Given the description of an element on the screen output the (x, y) to click on. 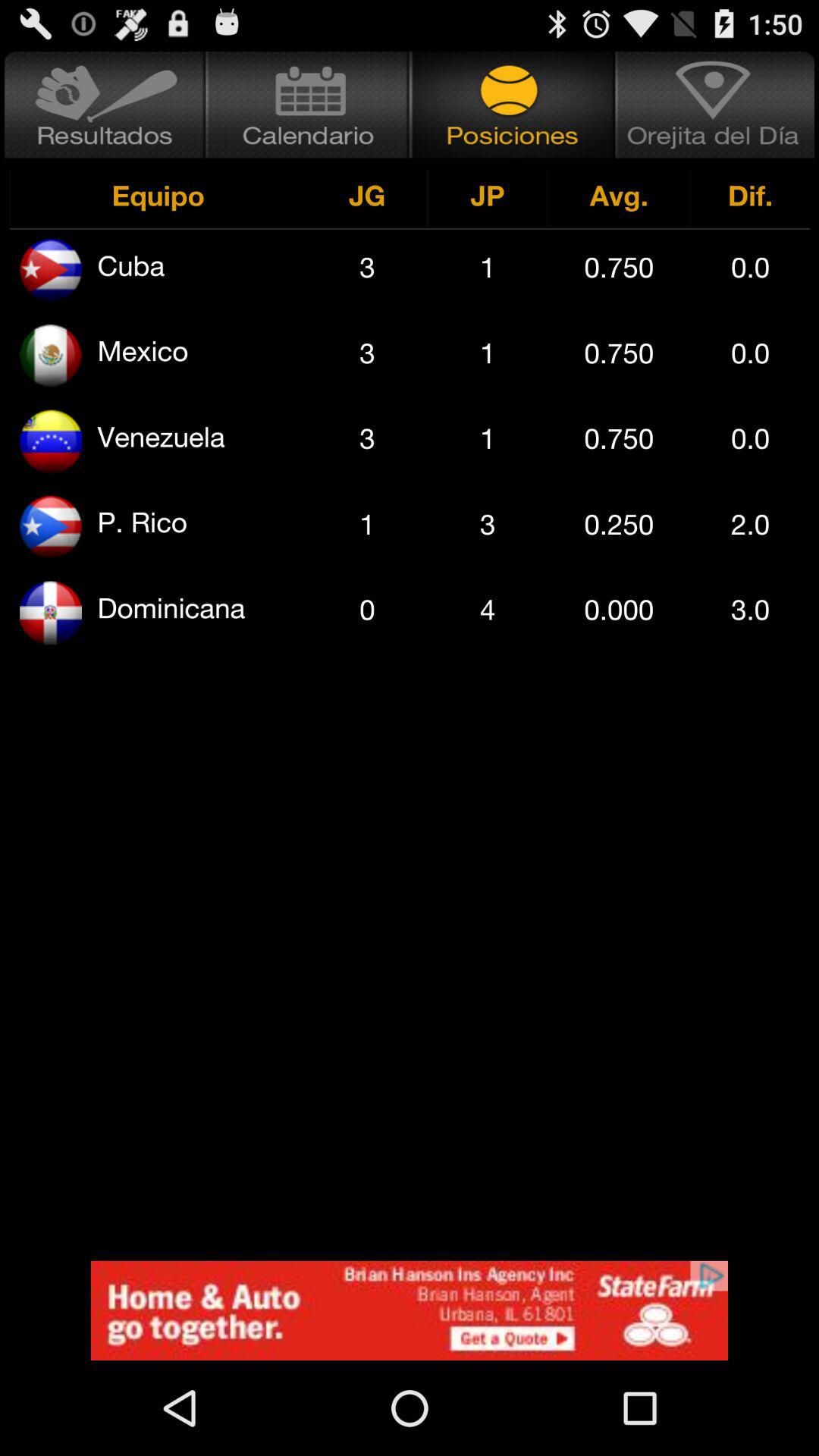
go to calender of different games (307, 104)
